Given the description of an element on the screen output the (x, y) to click on. 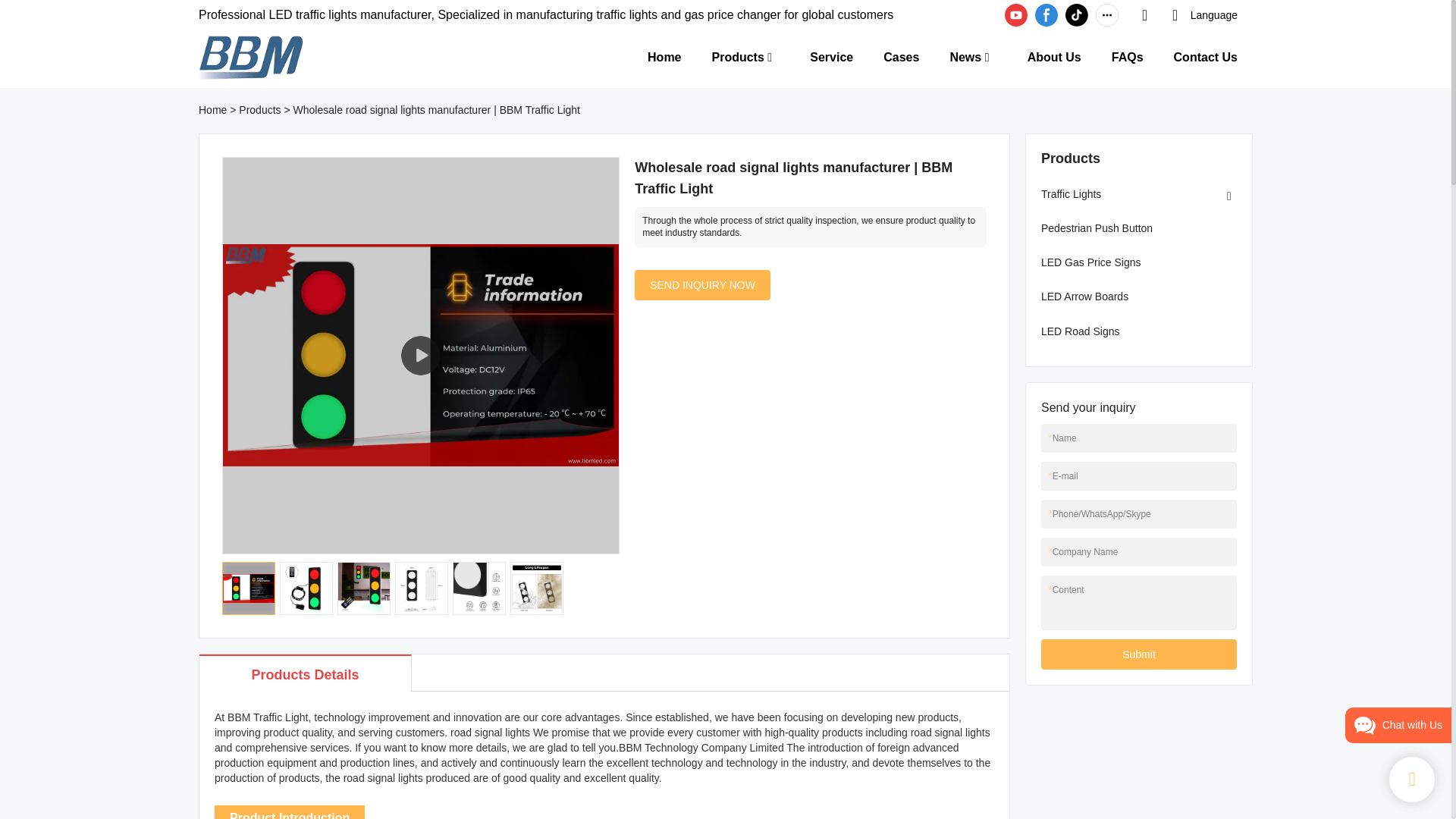
youtube (1015, 15)
tiktok (1076, 15)
SEND INQUIRY NOW (702, 285)
About Us (1054, 56)
Products (736, 56)
Service (831, 56)
Home (664, 56)
News (965, 56)
facebook (1045, 15)
Home (212, 110)
Products (259, 110)
Cases (900, 56)
FAQs (1127, 56)
Contact Us (1205, 56)
